Given the description of an element on the screen output the (x, y) to click on. 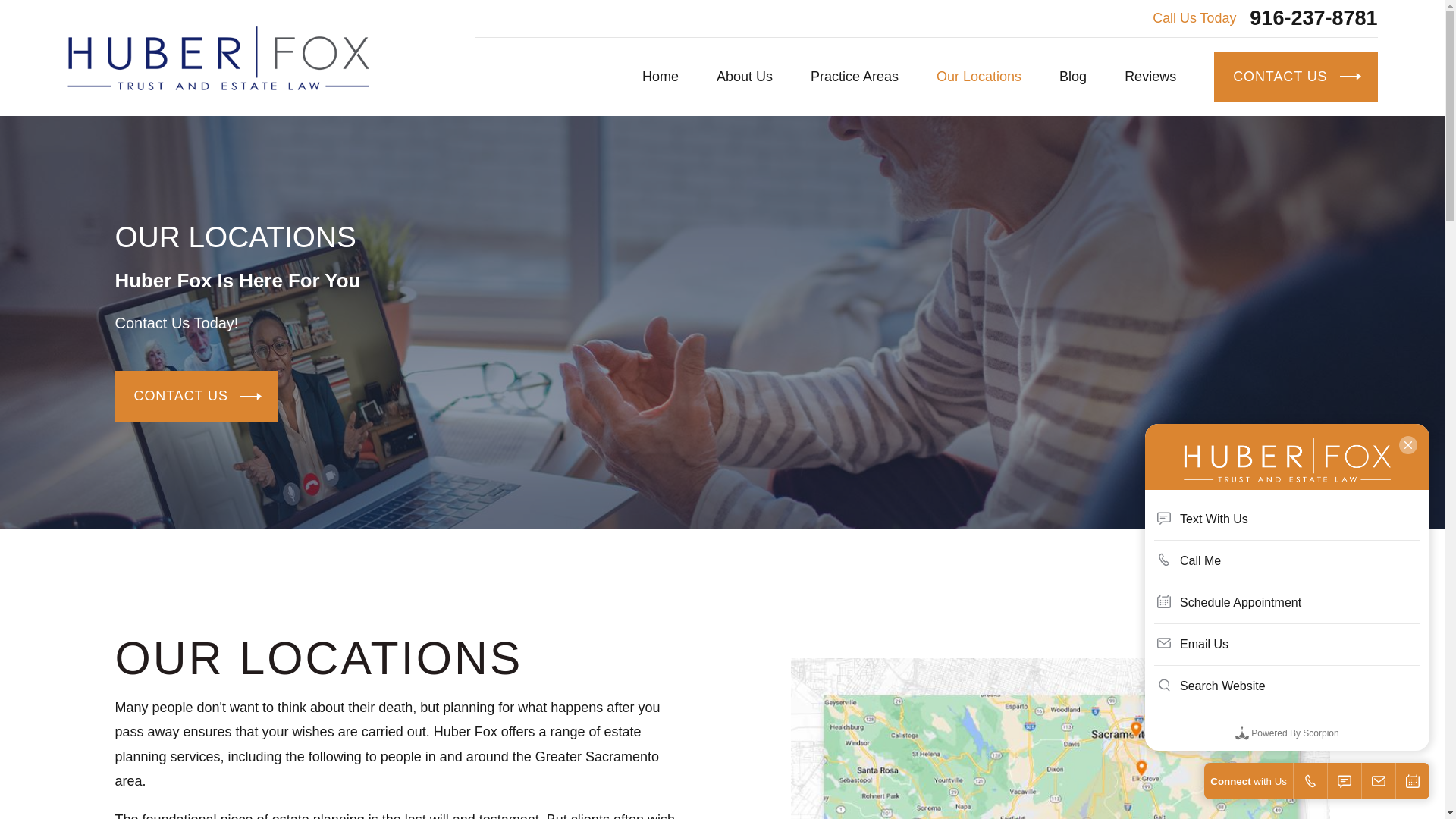
About Us (744, 77)
916-237-8781 (1313, 18)
Practice Areas (854, 77)
Home (217, 58)
Huber Fox (217, 57)
